Given the description of an element on the screen output the (x, y) to click on. 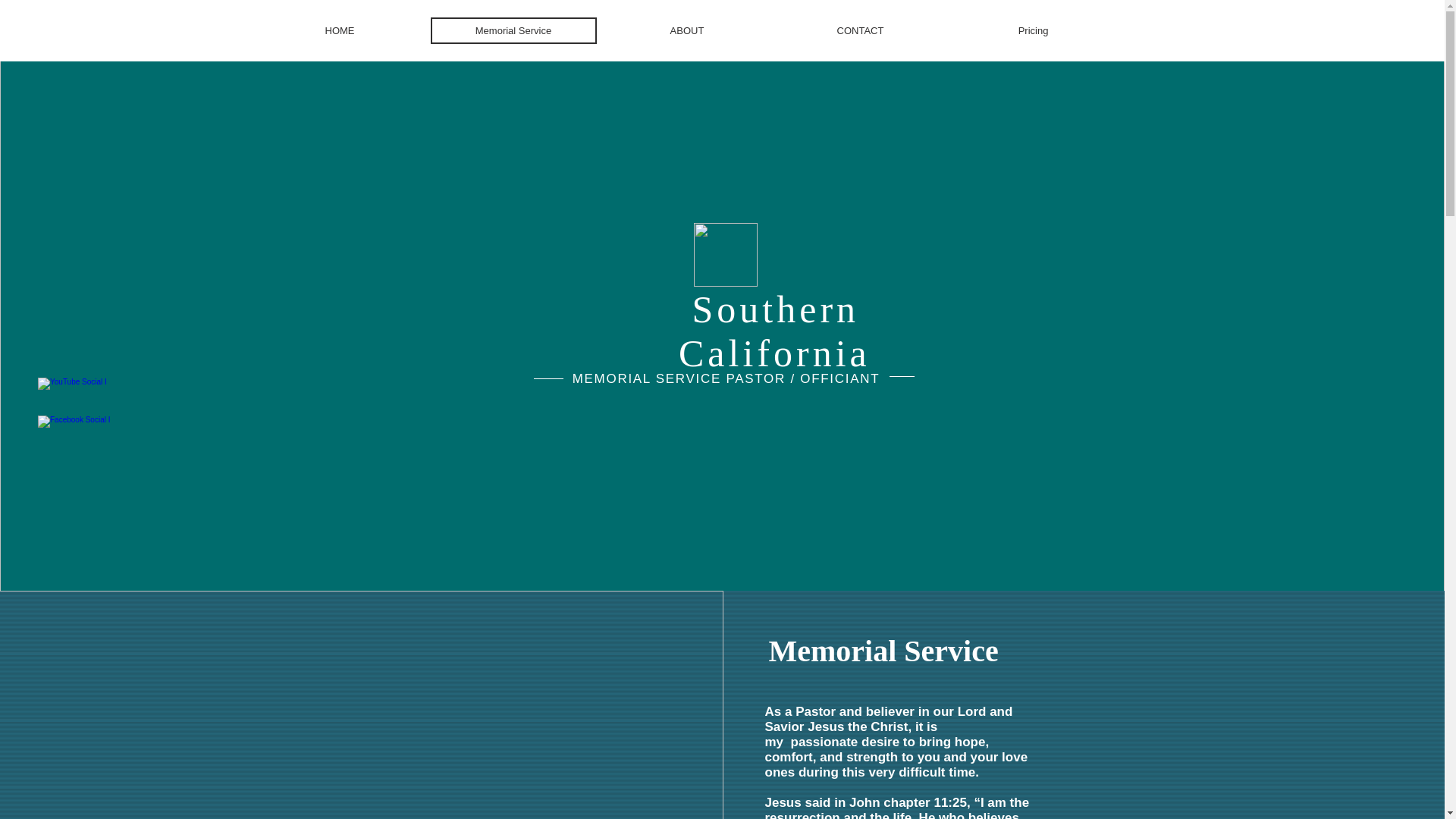
Pricing (1033, 30)
HOME (339, 30)
Memorial Service (513, 30)
ABOUT (687, 30)
CONTACT (860, 30)
